Given the description of an element on the screen output the (x, y) to click on. 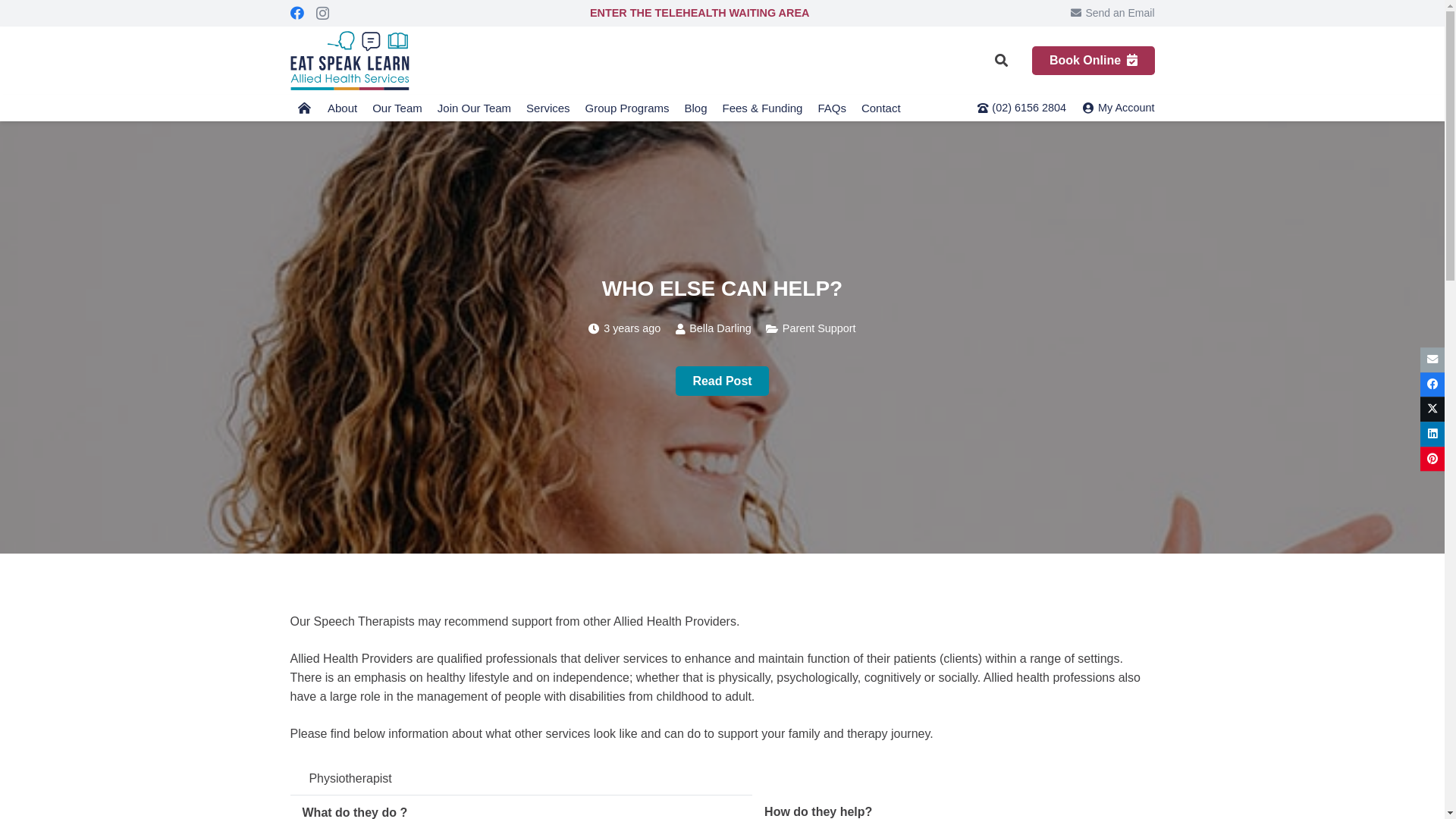
Privacy Policy Element type: text (471, 800)
Contact Element type: text (880, 108)
Book Online Element type: text (492, 669)
Send an Email Element type: text (1112, 12)
Key Worker Policy Element type: text (810, 800)
Facebook Element type: hover (983, 692)
Unaccompanied Minors Policy Element type: text (921, 800)
ENTER THE TELEHEALTH WAITING AREA Element type: text (699, 12)
Our Team Element type: text (396, 108)
Email Correspondence Element type: text (1041, 800)
Share this Element type: hover (1432, 433)
Send an Email Element type: text (817, 545)
Collaboration Policy Element type: text (633, 800)
Facebook Element type: hover (296, 12)
Instagram Element type: hover (321, 13)
Services Element type: text (547, 108)
Book Online Element type: text (1093, 60)
Service Agreement Element type: text (394, 800)
Cancellation Policy Element type: text (723, 800)
Parent Support Element type: text (819, 328)
Northpoint Plaza, 8 Chandler Street, Belconnen ACT 2617 Element type: text (851, 635)
About Element type: text (342, 108)
Join Our Team Element type: text (473, 108)
Group Programs Element type: text (627, 108)
Complaints Policy Element type: text (546, 800)
(02) 6156 2804 Element type: text (819, 580)
FAQs Element type: text (831, 108)
Instagram Element type: hover (1014, 693)
Email Element type: hover (1044, 692)
Newcastle Creative Co. Element type: text (926, 777)
My Account Element type: text (1118, 107)
Email this Element type: hover (1432, 359)
Read Post Element type: text (721, 380)
Pin this Element type: hover (1432, 458)
Tweet this Element type: hover (1432, 409)
Fees & Funding Element type: text (761, 108)
Share this Element type: hover (1432, 384)
Blog Element type: text (695, 108)
(02) 6156 2804 Element type: text (1021, 107)
Bella Darling Element type: text (720, 328)
